Given the description of an element on the screen output the (x, y) to click on. 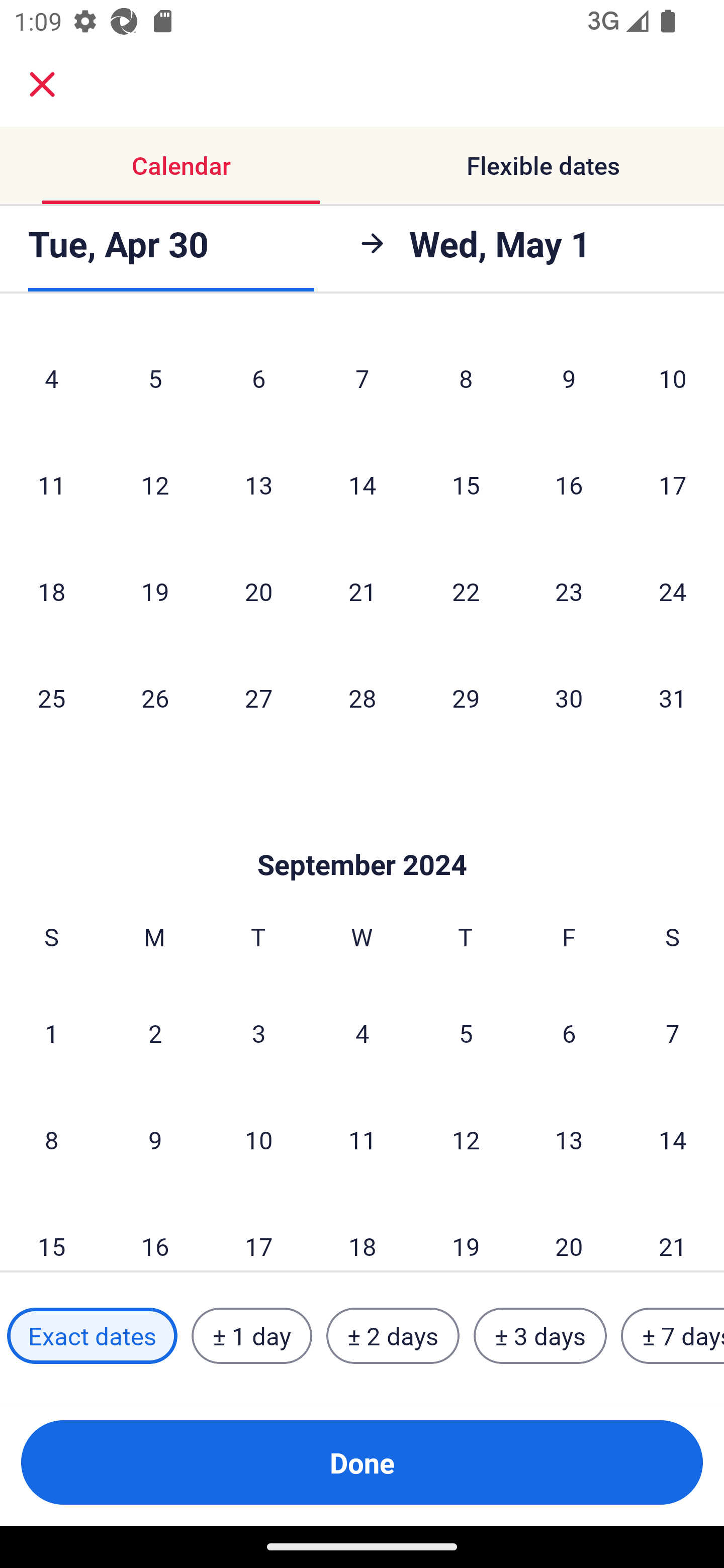
close. (42, 84)
Flexible dates (542, 164)
4 Sunday, August 4, 2024 (51, 377)
5 Monday, August 5, 2024 (155, 377)
6 Tuesday, August 6, 2024 (258, 377)
7 Wednesday, August 7, 2024 (362, 377)
8 Thursday, August 8, 2024 (465, 377)
9 Friday, August 9, 2024 (569, 377)
10 Saturday, August 10, 2024 (672, 377)
11 Sunday, August 11, 2024 (51, 484)
12 Monday, August 12, 2024 (155, 484)
13 Tuesday, August 13, 2024 (258, 484)
14 Wednesday, August 14, 2024 (362, 484)
15 Thursday, August 15, 2024 (465, 484)
16 Friday, August 16, 2024 (569, 484)
17 Saturday, August 17, 2024 (672, 484)
18 Sunday, August 18, 2024 (51, 590)
19 Monday, August 19, 2024 (155, 590)
20 Tuesday, August 20, 2024 (258, 590)
21 Wednesday, August 21, 2024 (362, 590)
22 Thursday, August 22, 2024 (465, 590)
23 Friday, August 23, 2024 (569, 590)
24 Saturday, August 24, 2024 (672, 590)
25 Sunday, August 25, 2024 (51, 697)
26 Monday, August 26, 2024 (155, 697)
27 Tuesday, August 27, 2024 (258, 697)
28 Wednesday, August 28, 2024 (362, 697)
29 Thursday, August 29, 2024 (465, 697)
30 Friday, August 30, 2024 (569, 697)
31 Saturday, August 31, 2024 (672, 697)
Skip to Done (362, 833)
1 Sunday, September 1, 2024 (51, 1033)
2 Monday, September 2, 2024 (155, 1033)
3 Tuesday, September 3, 2024 (258, 1033)
4 Wednesday, September 4, 2024 (362, 1033)
5 Thursday, September 5, 2024 (465, 1033)
6 Friday, September 6, 2024 (569, 1033)
7 Saturday, September 7, 2024 (672, 1033)
8 Sunday, September 8, 2024 (51, 1139)
9 Monday, September 9, 2024 (155, 1139)
10 Tuesday, September 10, 2024 (258, 1139)
11 Wednesday, September 11, 2024 (362, 1139)
12 Thursday, September 12, 2024 (465, 1139)
13 Friday, September 13, 2024 (569, 1139)
14 Saturday, September 14, 2024 (672, 1139)
15 Sunday, September 15, 2024 (51, 1232)
16 Monday, September 16, 2024 (155, 1232)
17 Tuesday, September 17, 2024 (258, 1232)
18 Wednesday, September 18, 2024 (362, 1232)
19 Thursday, September 19, 2024 (465, 1232)
20 Friday, September 20, 2024 (569, 1232)
21 Saturday, September 21, 2024 (672, 1232)
Exact dates (92, 1335)
± 1 day (251, 1335)
± 2 days (392, 1335)
± 3 days (539, 1335)
± 7 days (672, 1335)
Done (361, 1462)
